Given the description of an element on the screen output the (x, y) to click on. 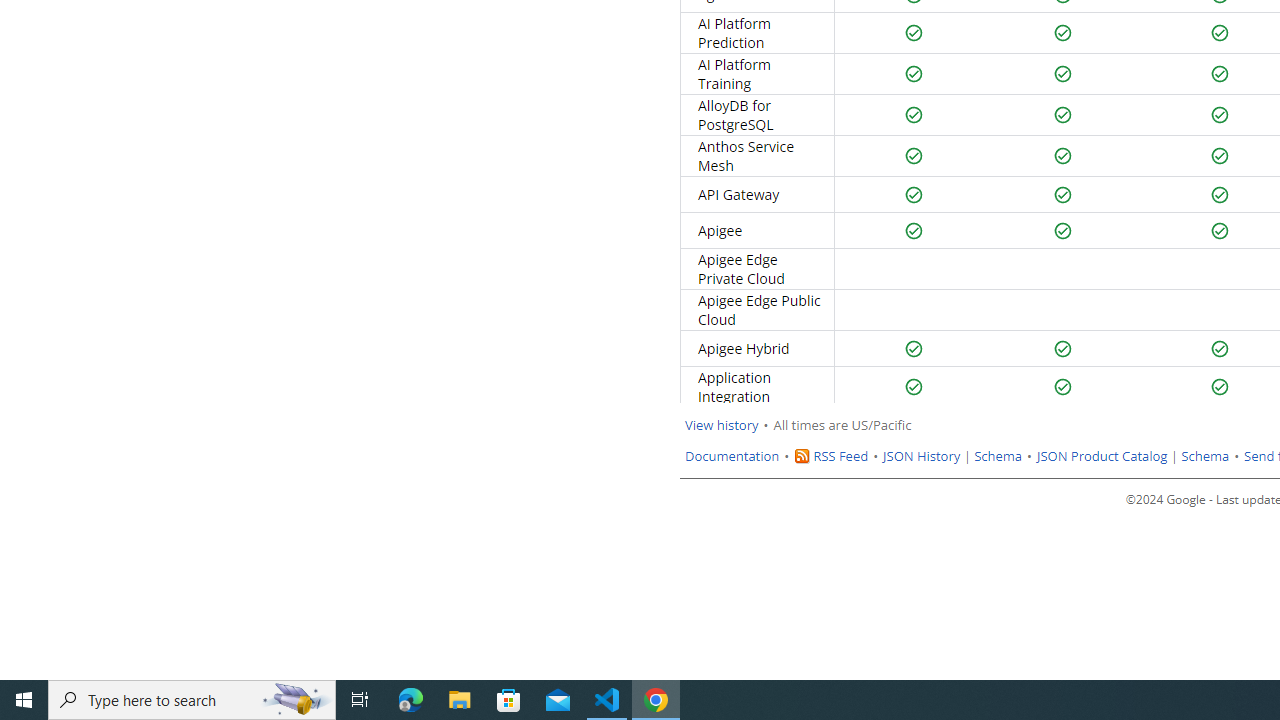
Available status (1220, 387)
View history (721, 425)
RSS Feed (840, 456)
JSON History (922, 456)
JSON Product Catalog (1101, 456)
Schema (1205, 456)
Documentation (731, 456)
